Given the description of an element on the screen output the (x, y) to click on. 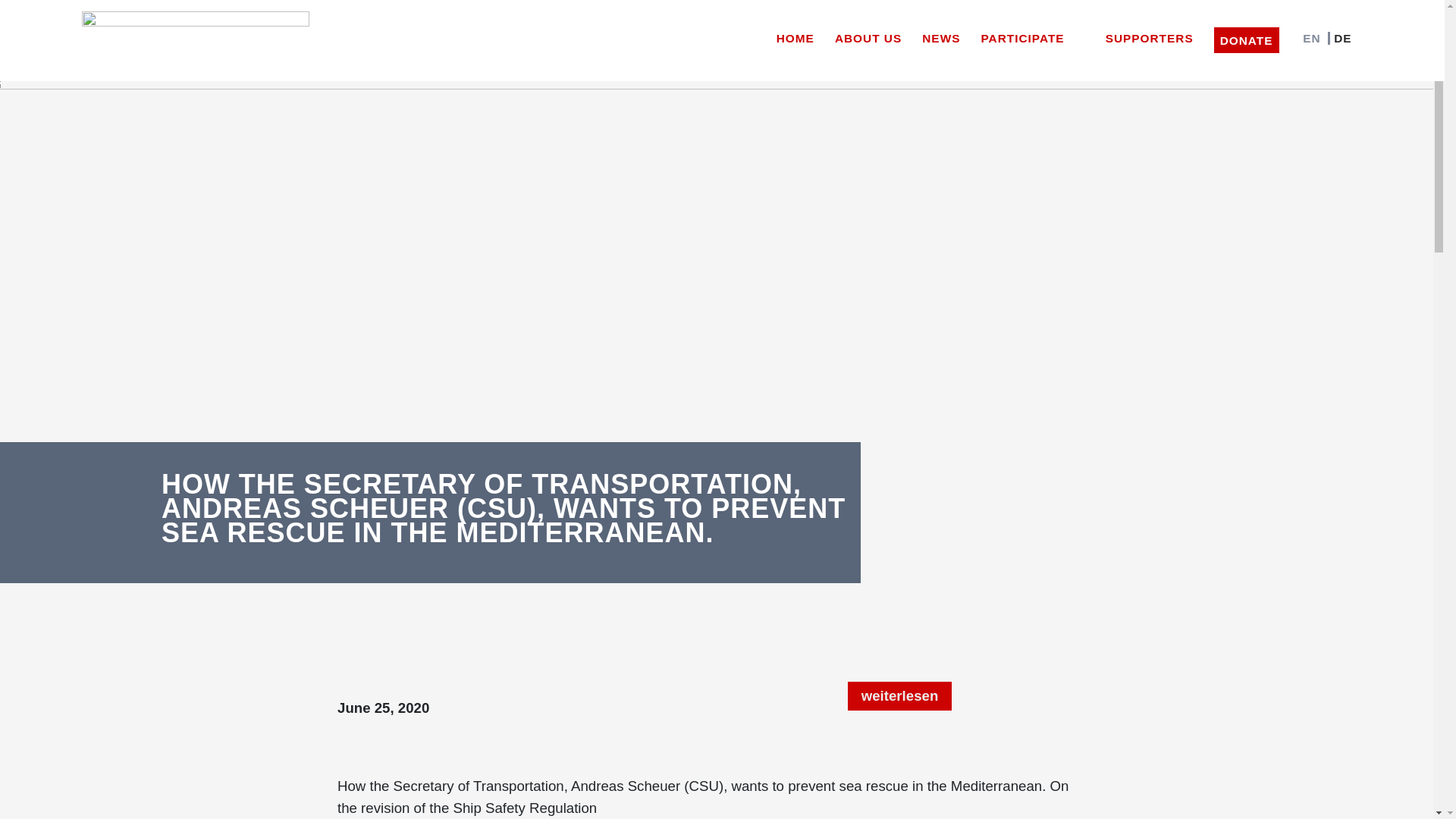
ABOUT US (867, 35)
NEWS (940, 35)
DE (1338, 35)
weiterlesen (899, 695)
DONATE (1246, 39)
HOME (794, 35)
DE (1338, 35)
SUPPORTERS (1149, 35)
PARTICIPATE (1031, 35)
